Given the description of an element on the screen output the (x, y) to click on. 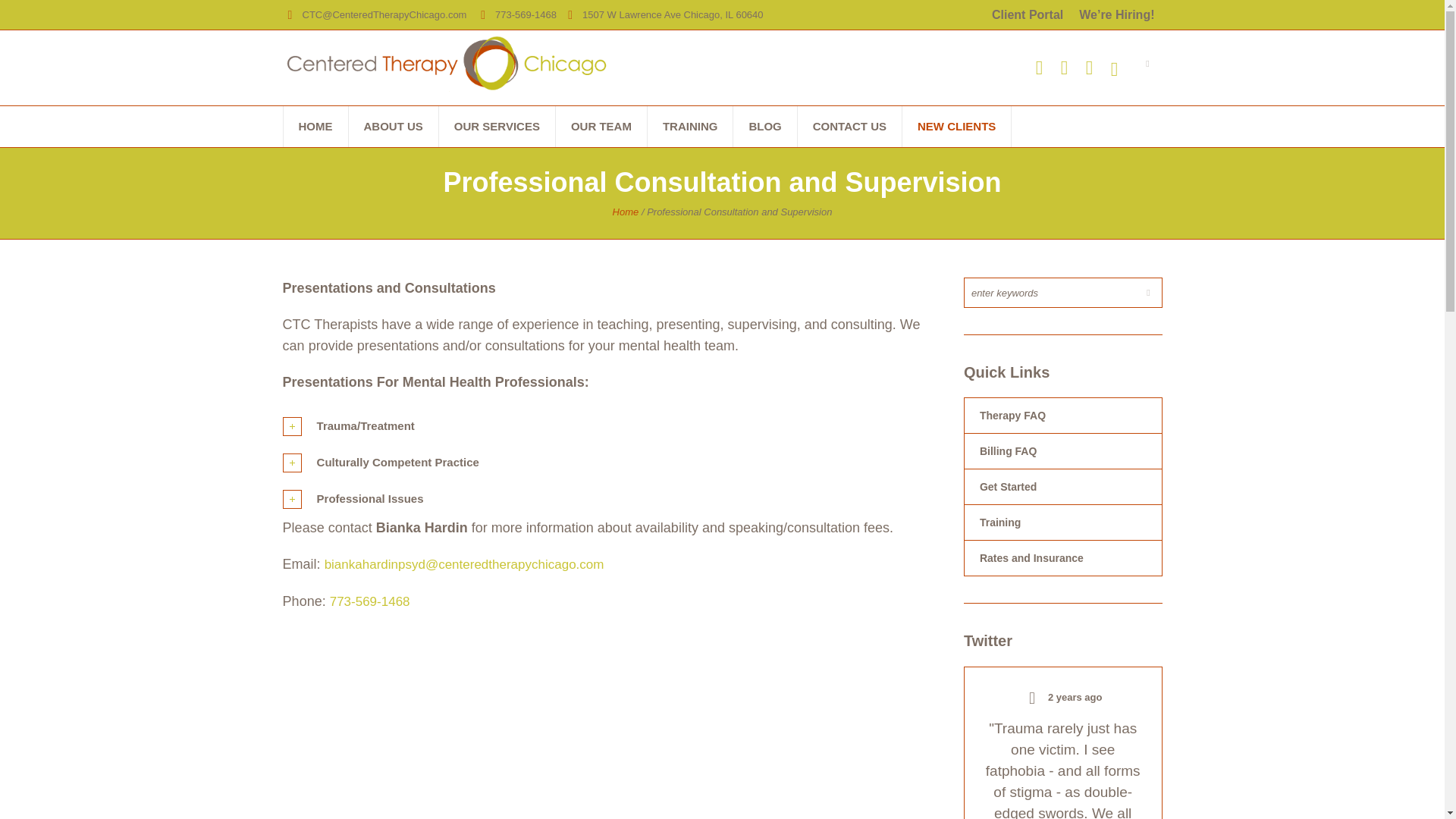
TRAINING (690, 126)
BLOG (764, 126)
HOME (315, 126)
CONTACT US (849, 126)
773-569-1468 (525, 14)
Instagram (1113, 69)
Client Portal (1027, 14)
ABOUT US (393, 126)
NEW CLIENTS (956, 126)
OUR SERVICES (496, 126)
Facebook (1064, 67)
LinkedIn (1088, 67)
OUR TEAM (601, 126)
Home (625, 211)
Twitter (1038, 67)
